Given the description of an element on the screen output the (x, y) to click on. 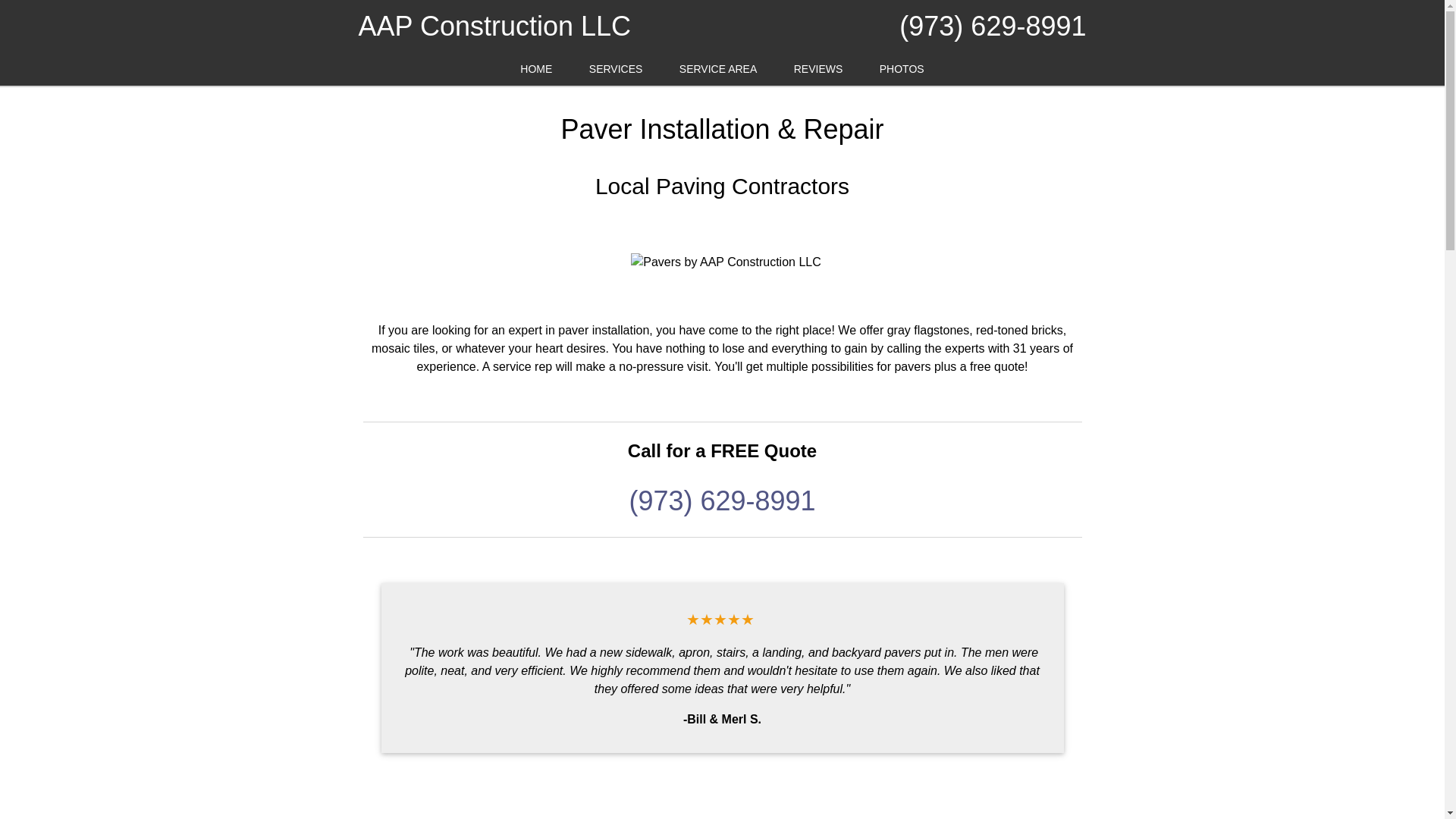
REVIEWS (818, 69)
SERVICES (615, 69)
SERVICE AREA (717, 69)
PHOTOS (901, 69)
HOME (536, 69)
